Given the description of an element on the screen output the (x, y) to click on. 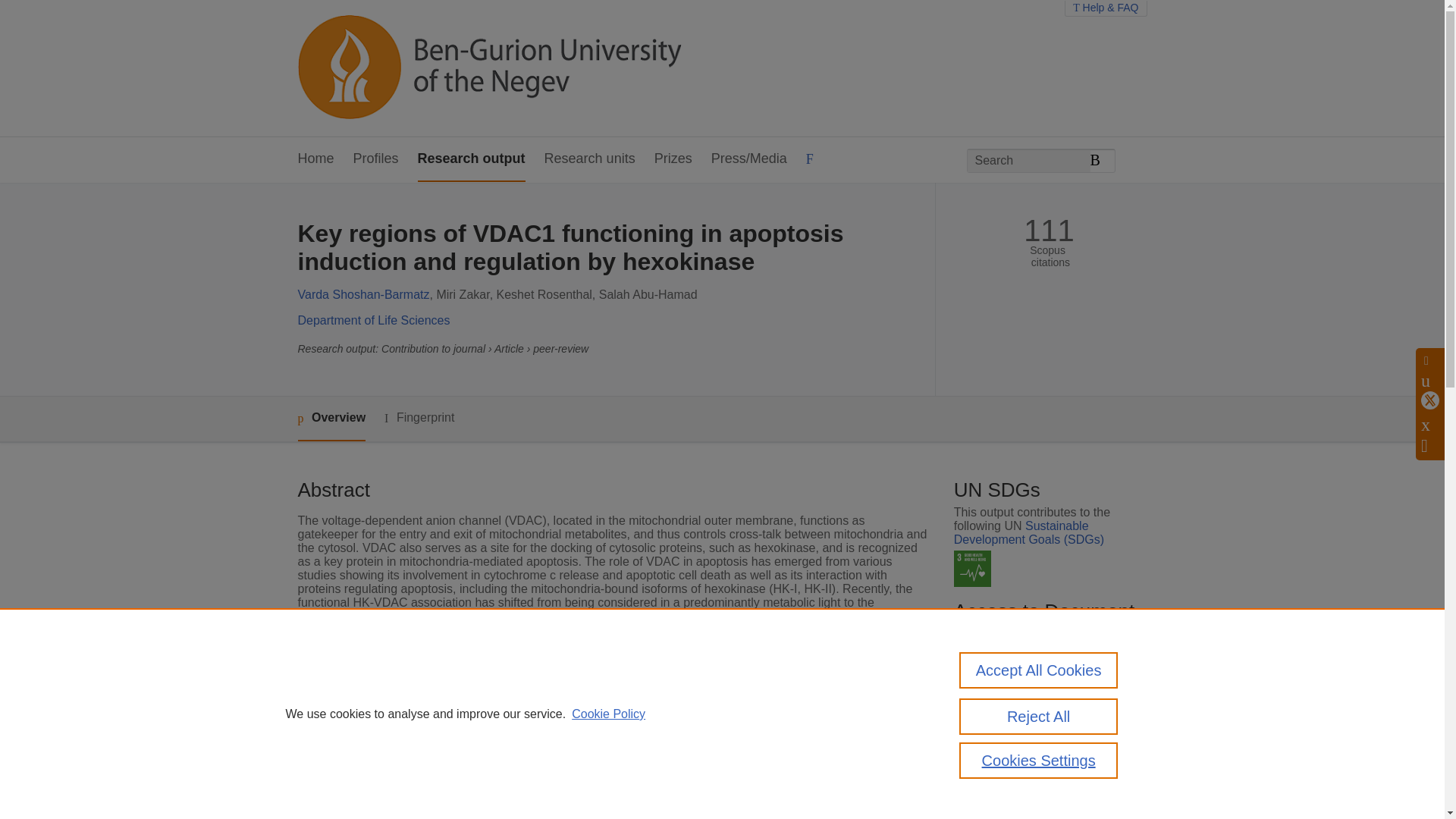
Varda Shoshan-Barmatz (363, 294)
Fingerprint (419, 417)
Profiles (375, 159)
Overview (331, 418)
Link to publication in Scopus (1045, 693)
Department of Life Sciences (373, 319)
SDG 3 - Good Health and Well-being (972, 569)
Research output (471, 159)
Ben-Gurion University Research Portal Home (489, 68)
Research units (589, 159)
